Given the description of an element on the screen output the (x, y) to click on. 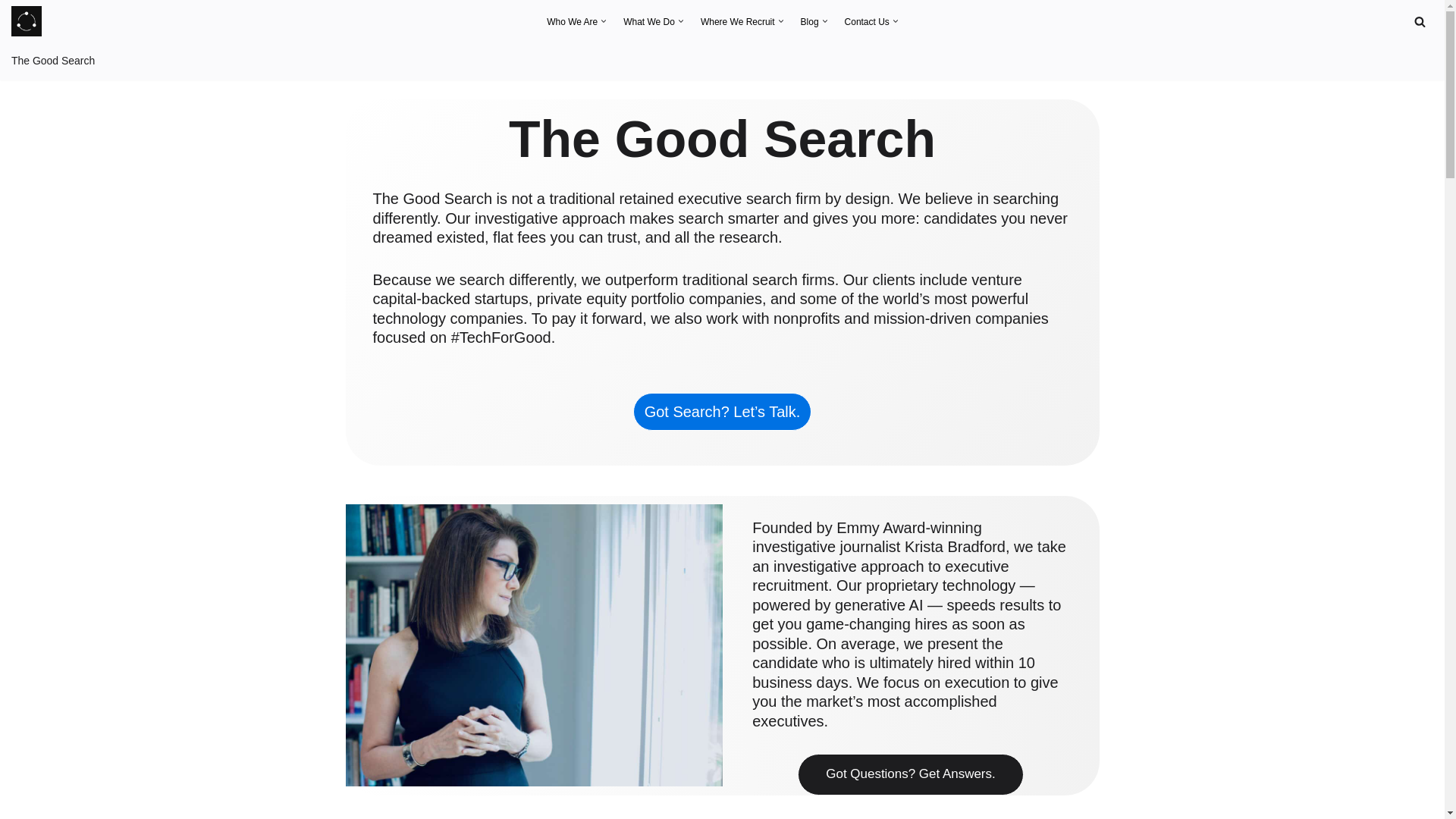
Skip to content (11, 31)
Blog (809, 20)
Story (571, 20)
Where We Recruit (737, 20)
Our locations (737, 20)
What We Do (649, 20)
Who We Are (571, 20)
The Good Search Blog  (809, 20)
